Given the description of an element on the screen output the (x, y) to click on. 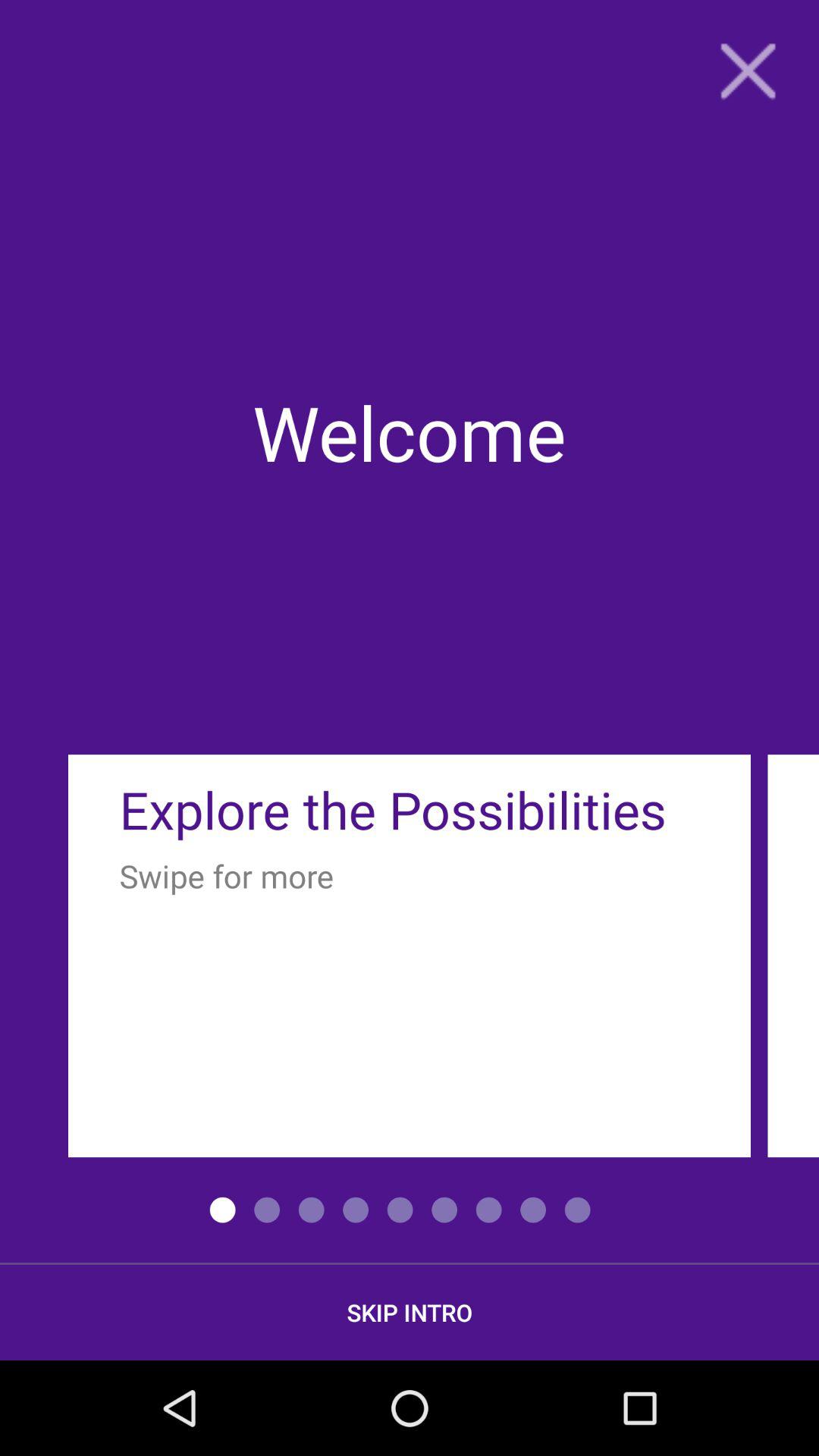
click on the last button which is above skip intro (577, 1209)
click on the fifth option above skip intro (400, 1209)
click the left side first radio dot button from the bottom (222, 1209)
click on the last but second button which is above skip intro (488, 1209)
select the 4th option from the bottom left side of the web page (355, 1209)
click on the button which is at the top right corner of the page (748, 71)
click on close icon (748, 71)
